Given the description of an element on the screen output the (x, y) to click on. 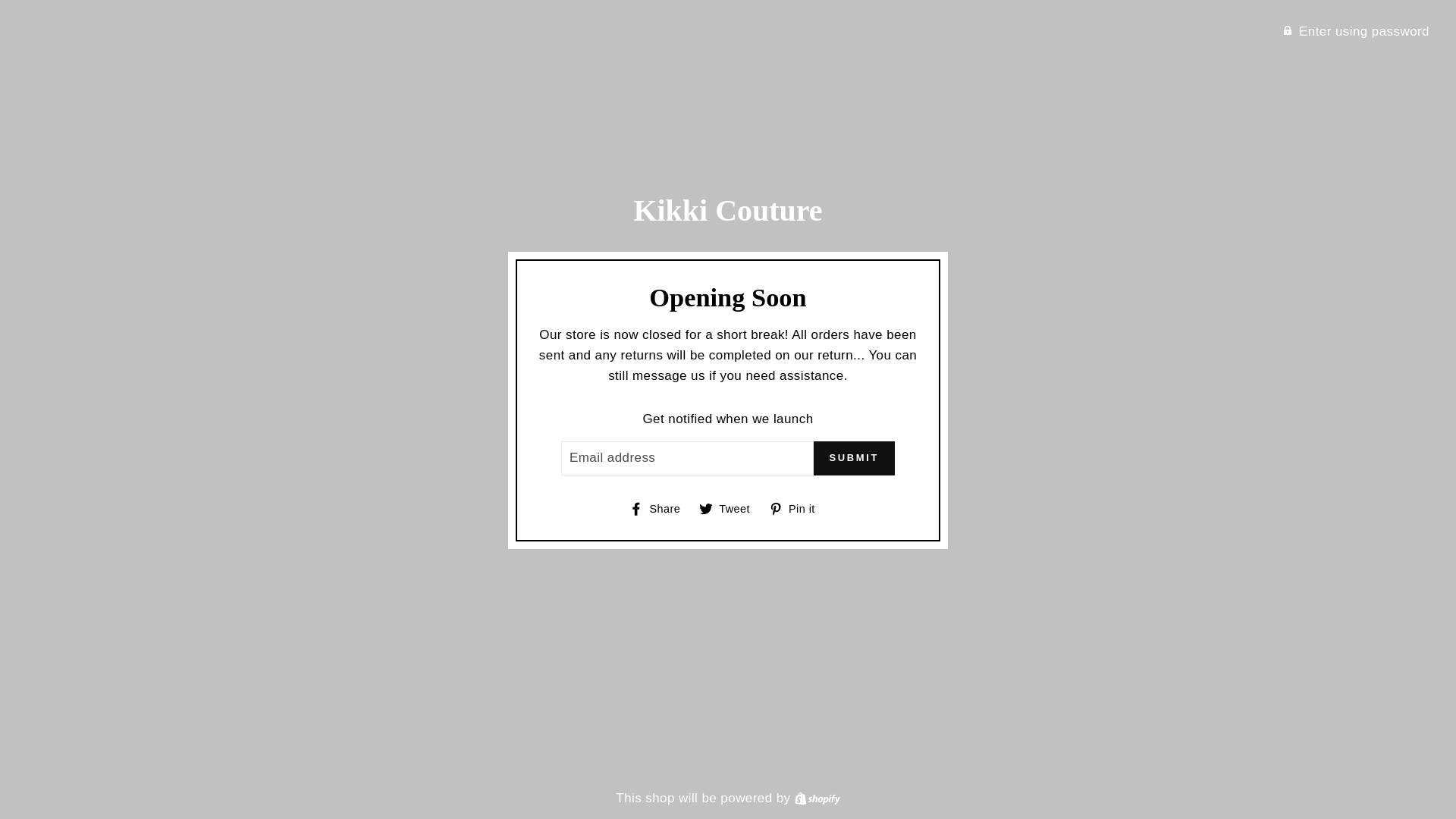
Create your own online store with Shopify (817, 797)
Share on Facebook (659, 508)
Enter using password (659, 508)
SUBMIT (1356, 30)
Shopify (854, 458)
Tweet on Twitter (817, 797)
Pin on Pinterest (797, 508)
